Given the description of an element on the screen output the (x, y) to click on. 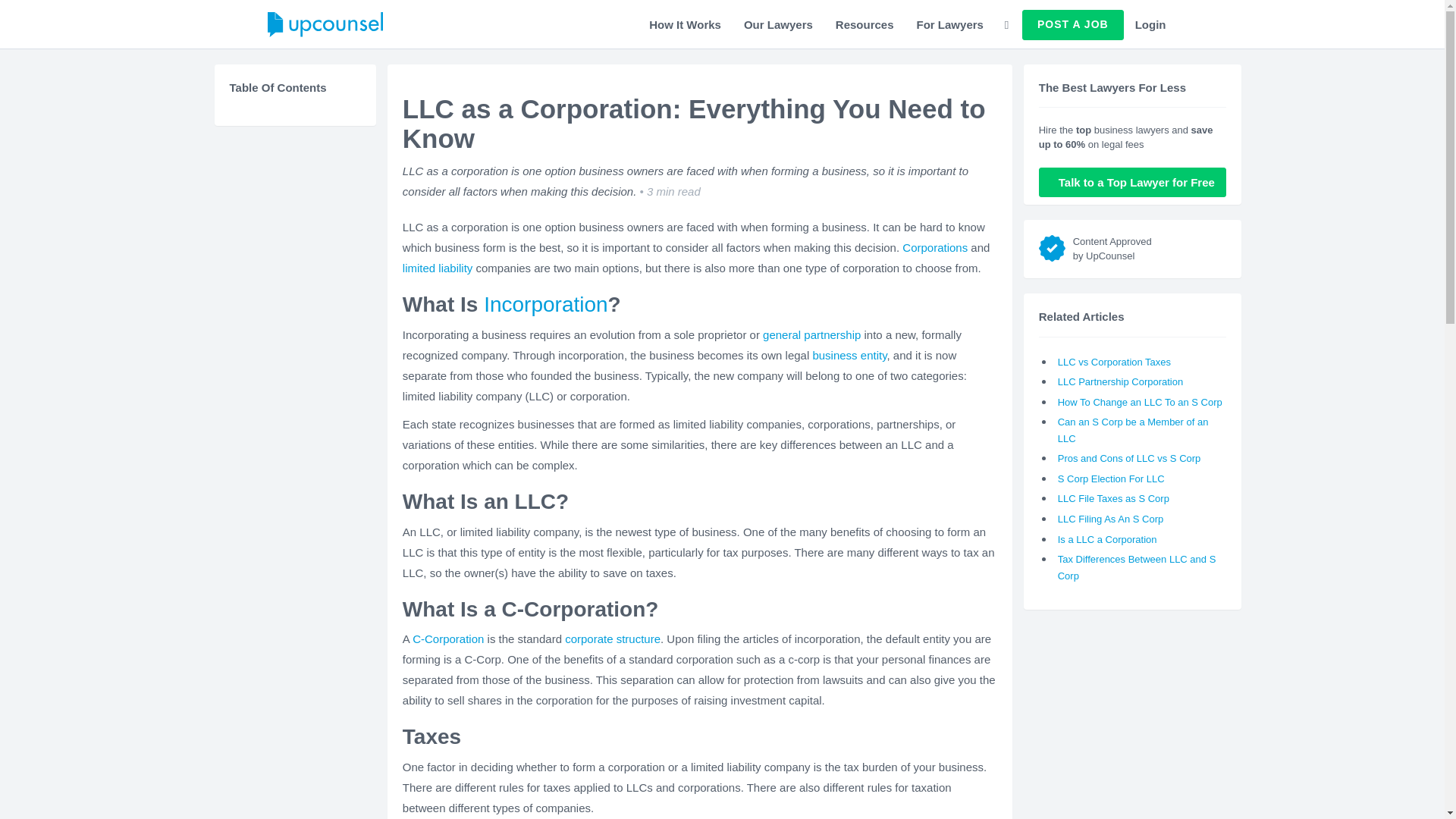
business entity (849, 354)
How It Works (684, 24)
Login (1150, 24)
Incorporation (545, 304)
Corporations (935, 246)
Our Lawyers (778, 24)
Resources (864, 24)
general partnership (811, 334)
C-Corporation (447, 638)
For Lawyers (949, 24)
